Given the description of an element on the screen output the (x, y) to click on. 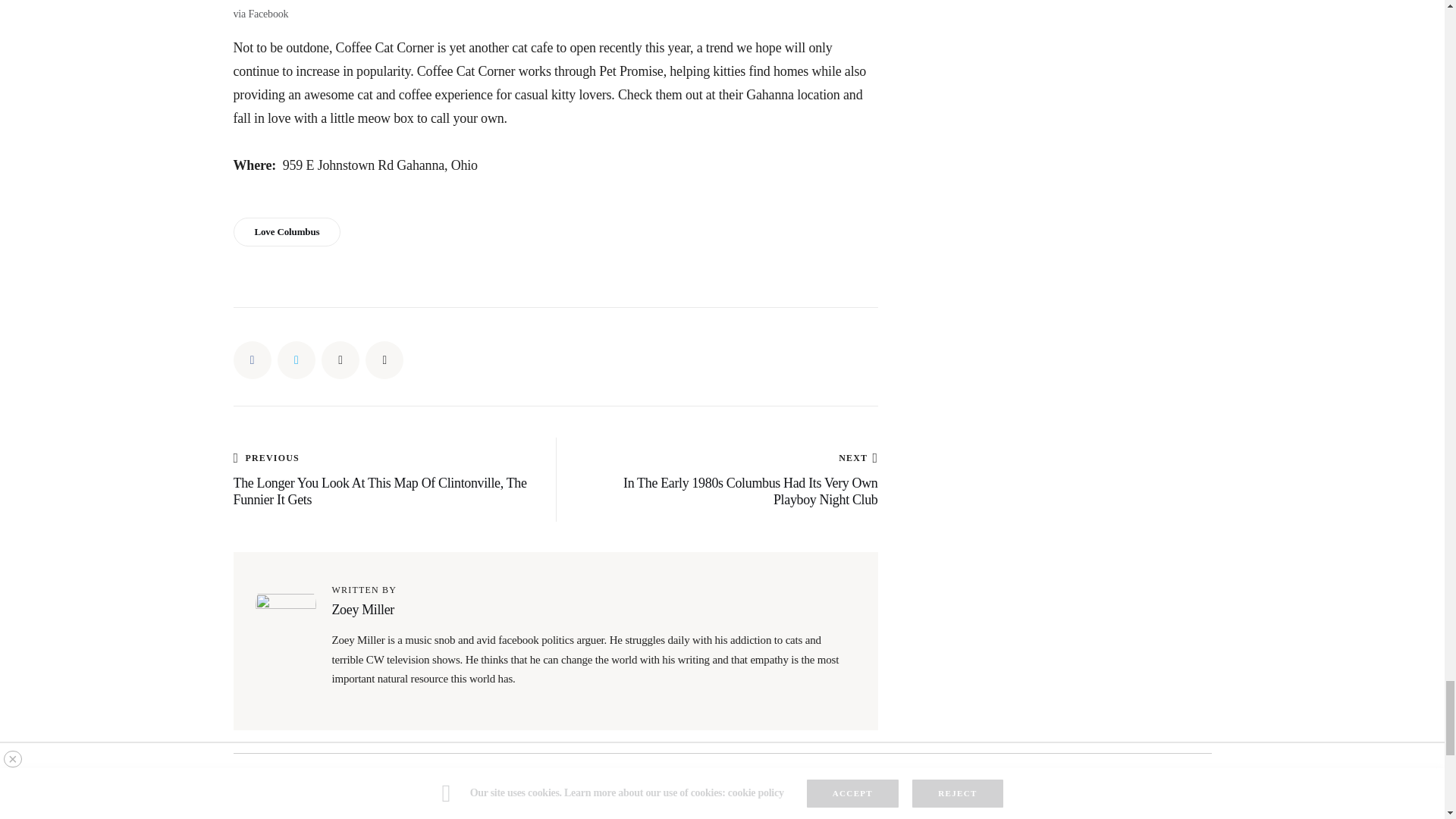
Copy URL to clipboard (384, 360)
